Given the description of an element on the screen output the (x, y) to click on. 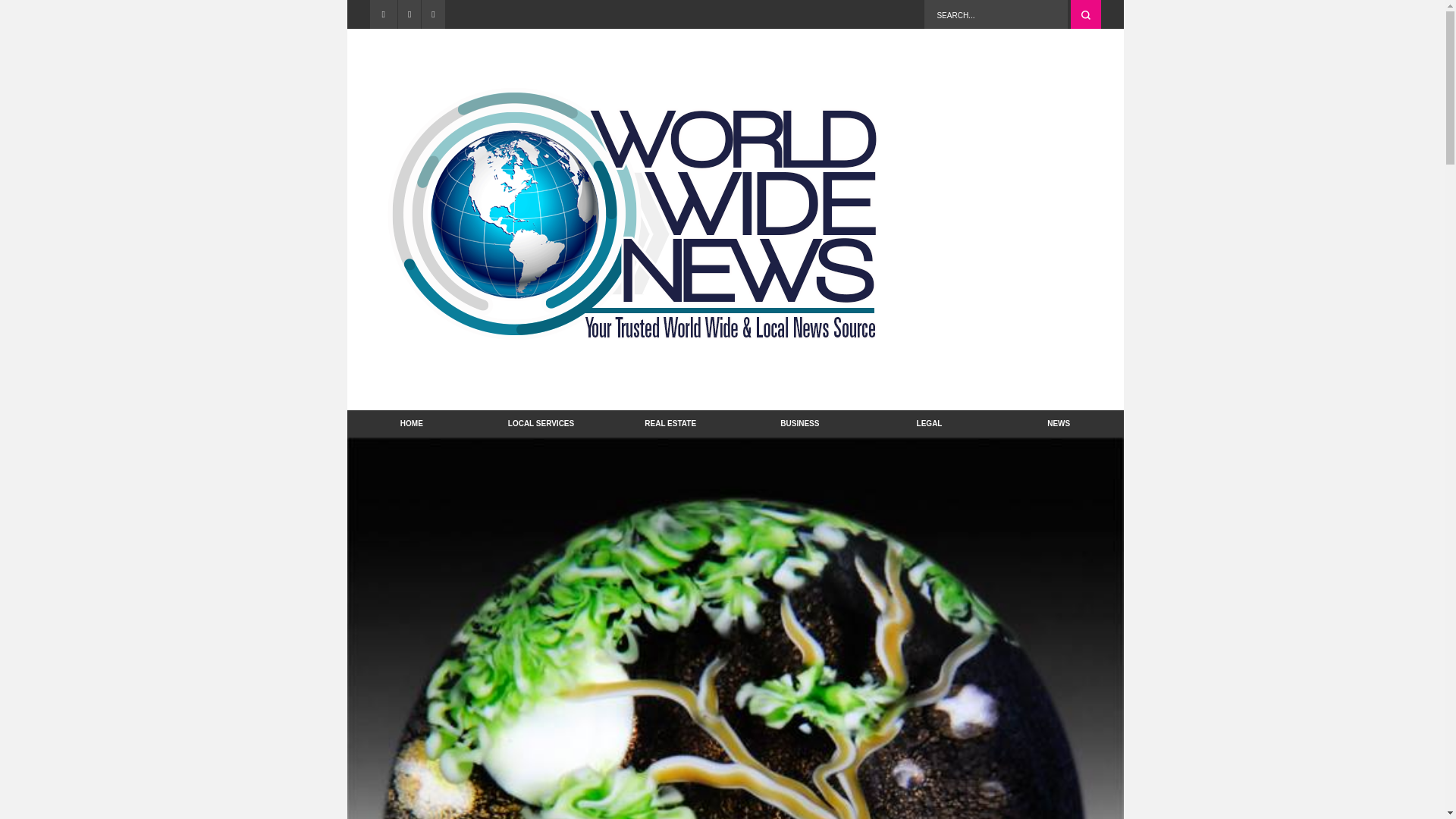
NEWS (1059, 423)
HOME (412, 423)
Submit (1085, 14)
LOCAL SERVICES (540, 423)
Submit (1085, 14)
Submit (1085, 14)
REAL ESTATE (670, 423)
LEGAL (929, 423)
BUSINESS (799, 423)
